Given the description of an element on the screen output the (x, y) to click on. 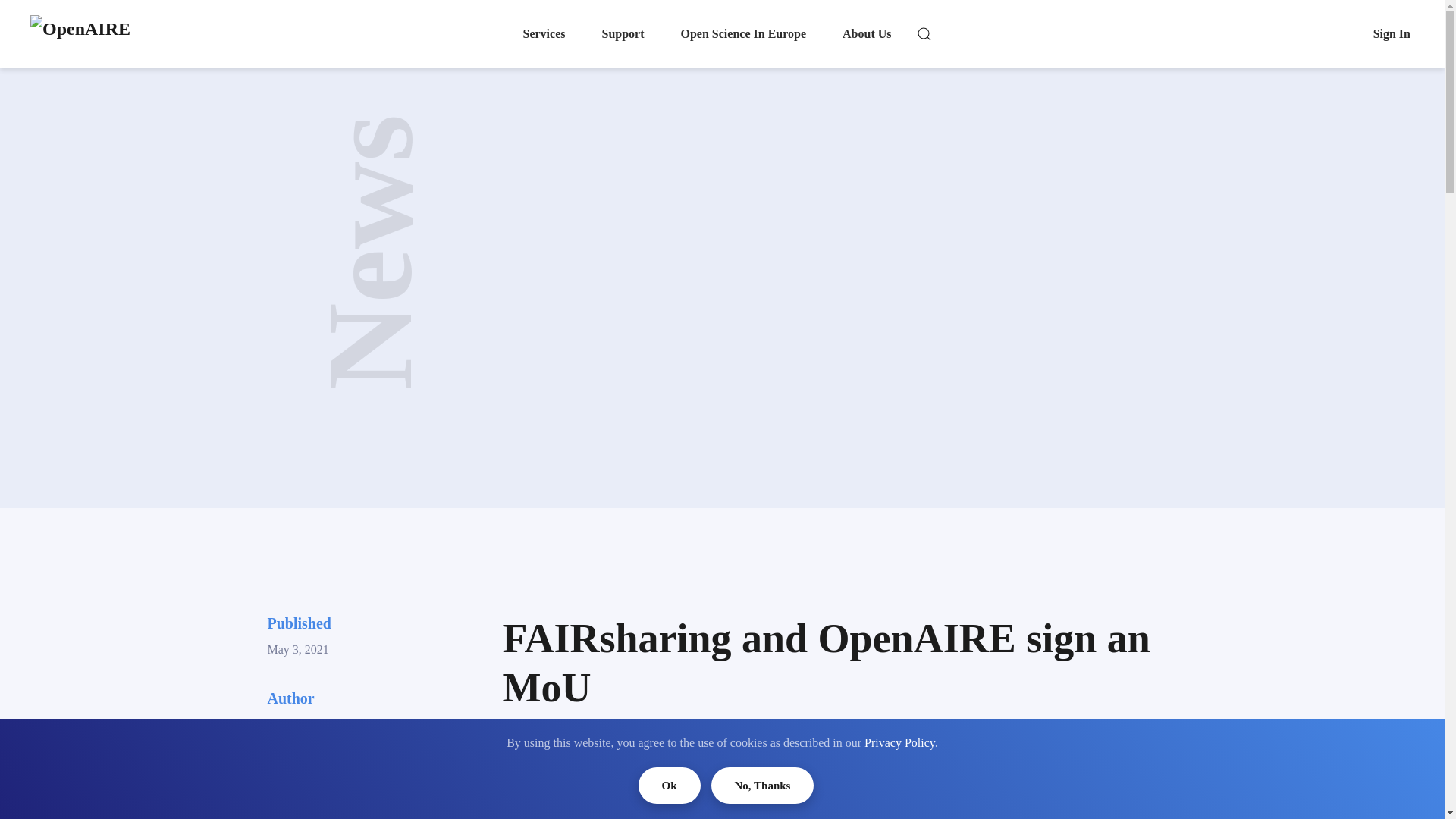
Services (544, 33)
About Us (866, 33)
Open Science In Europe (742, 33)
Support (622, 33)
